Given the description of an element on the screen output the (x, y) to click on. 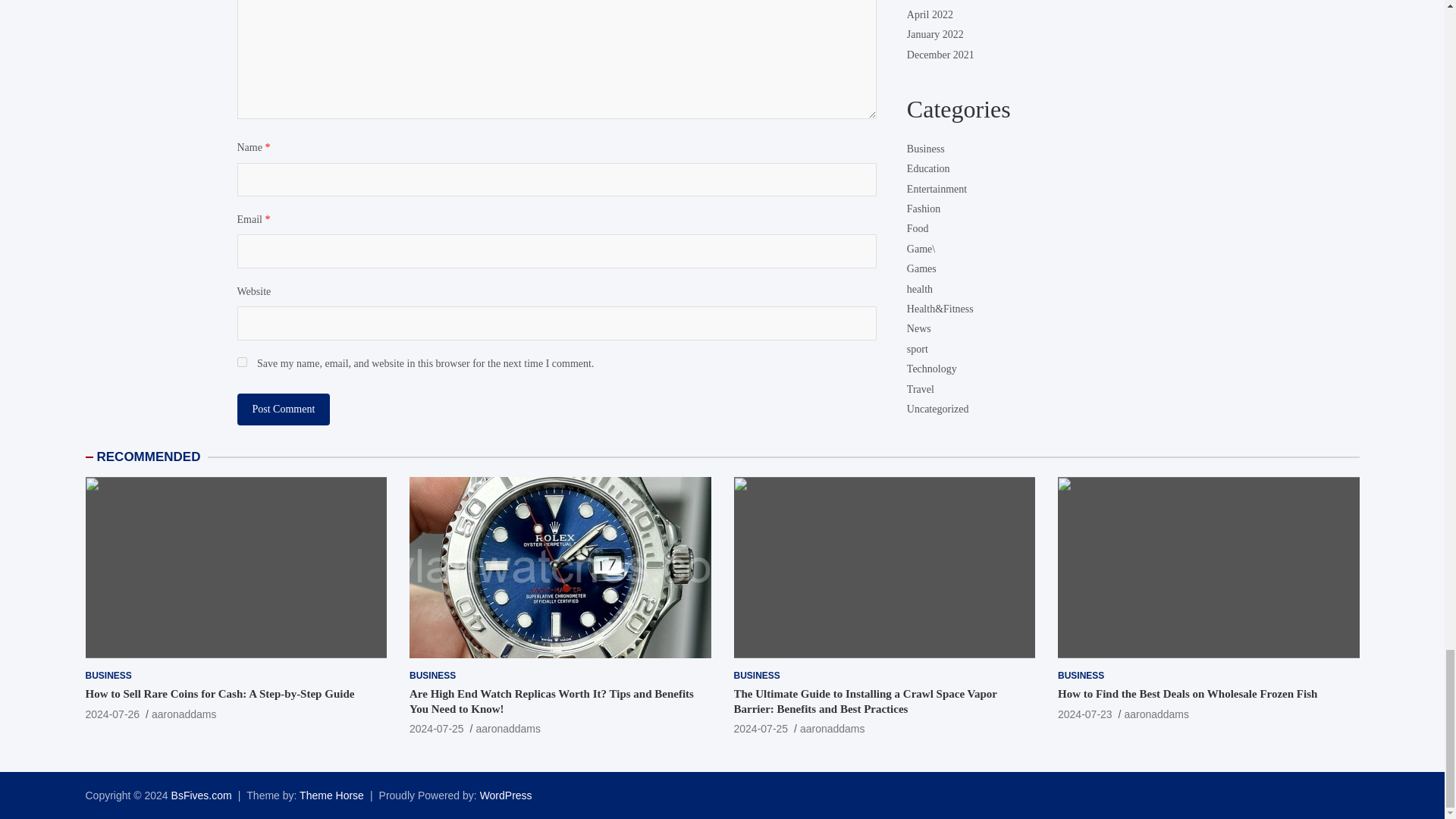
BsFives.com (201, 795)
WordPress (506, 795)
Theme Horse (331, 795)
Post Comment (282, 409)
How to Find the Best Deals on Wholesale Frozen Fish (1085, 714)
How to Sell Rare Coins for Cash: A Step-by-Step Guide (111, 714)
yes (240, 361)
Post Comment (282, 409)
